Given the description of an element on the screen output the (x, y) to click on. 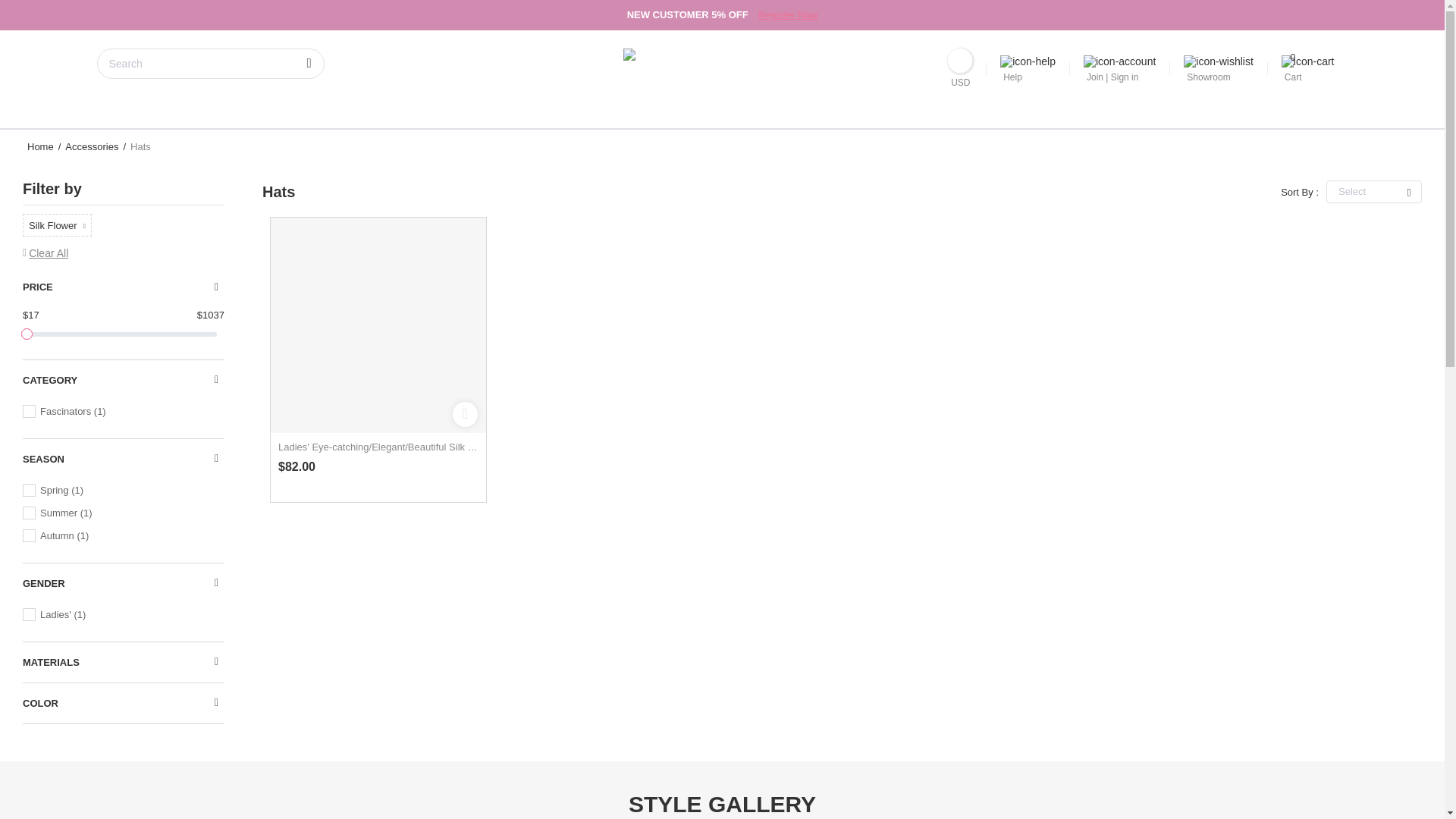
Home (40, 145)
Silk Flower (53, 224)
Register Now (787, 14)
Cart (1308, 67)
Clear All (48, 253)
Showroom (1217, 67)
Clear All (45, 253)
Accessories (91, 145)
